Given the description of an element on the screen output the (x, y) to click on. 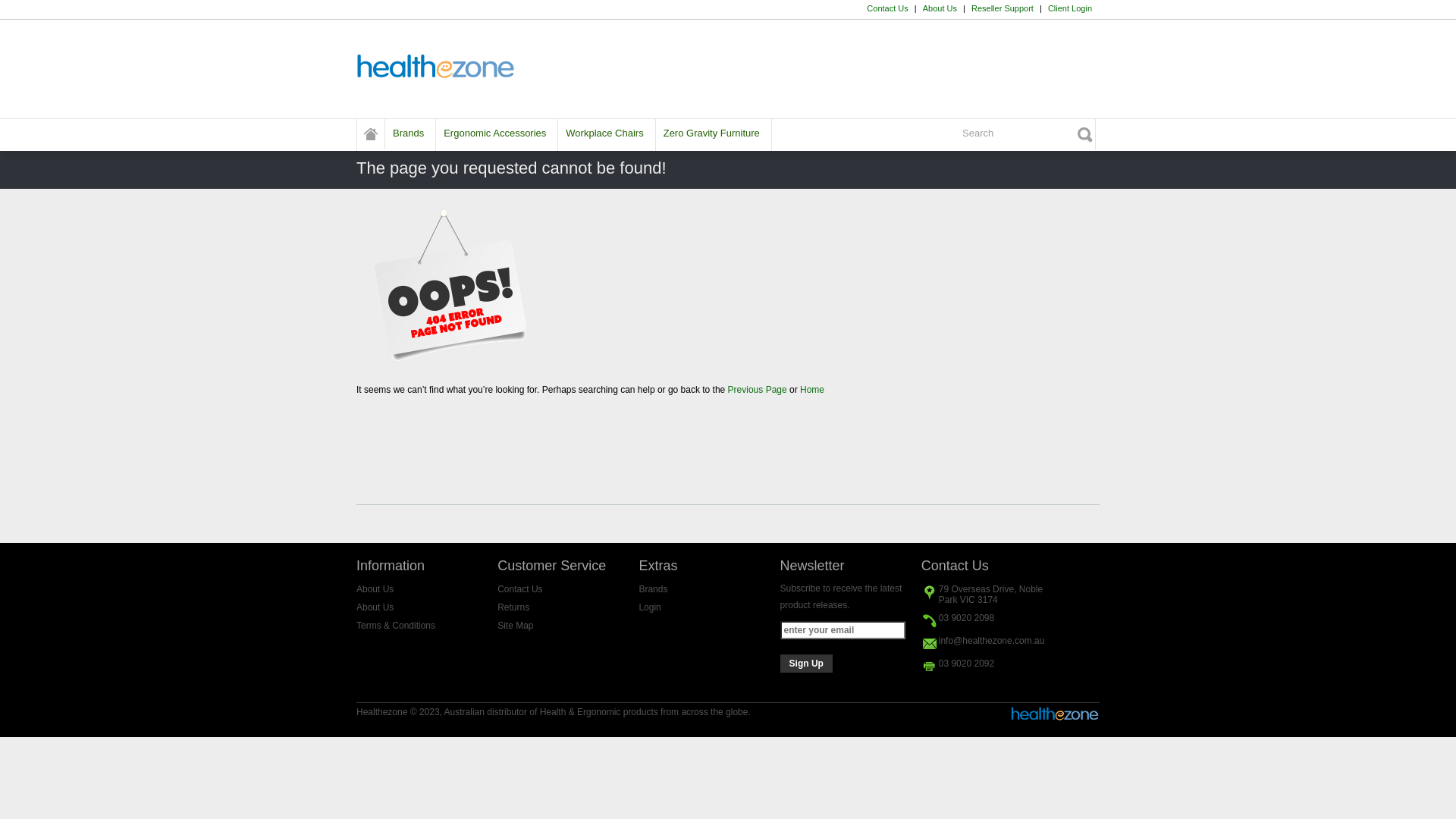
Terms & Conditions Element type: text (395, 625)
Contact Us Element type: text (886, 8)
About Us Element type: text (374, 588)
Sign Up Element type: text (806, 663)
About Us Element type: text (939, 8)
Ergonomic Accessories Element type: text (494, 133)
Reseller Support Element type: text (1002, 8)
Healthezone Element type: hover (370, 134)
Brands Element type: text (652, 588)
Zero Gravity Furniture Element type: text (711, 133)
Brands Element type: text (408, 133)
Site Map Element type: text (515, 625)
Workplace Chairs Element type: text (604, 133)
Login Element type: text (649, 607)
Client Login Element type: text (1070, 8)
Home Element type: text (812, 389)
Search Element type: text (1026, 133)
About Us Element type: text (374, 607)
Contact Us Element type: text (519, 588)
Returns Element type: text (513, 607)
visit the healthezone website Element type: hover (1054, 718)
enter your email Element type: hover (842, 630)
Healthezone Element type: hover (436, 67)
Previous Page Element type: text (757, 389)
